Given the description of an element on the screen output the (x, y) to click on. 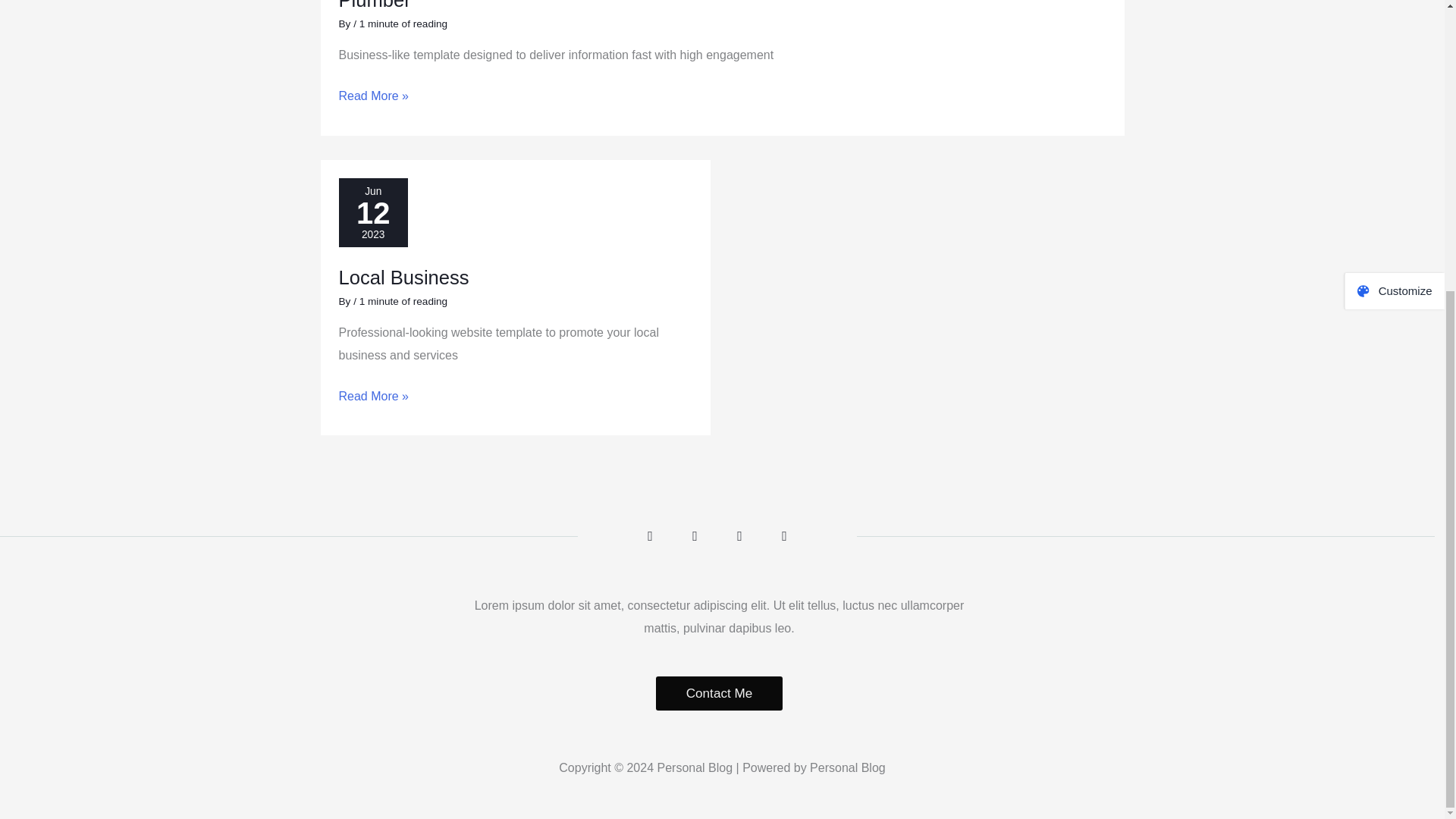
Wordpress (784, 535)
Contact Me (719, 693)
Twitter (695, 535)
Plumber (373, 5)
Local Business (402, 277)
Instagram (739, 535)
Facebook (650, 535)
